Given the description of an element on the screen output the (x, y) to click on. 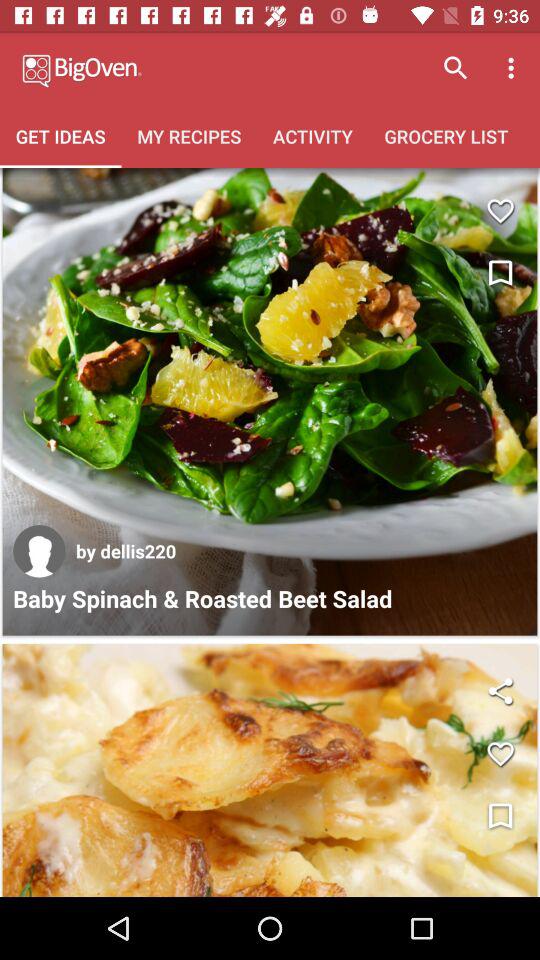
click the icon above baby spinach roasted item (126, 550)
